Given the description of an element on the screen output the (x, y) to click on. 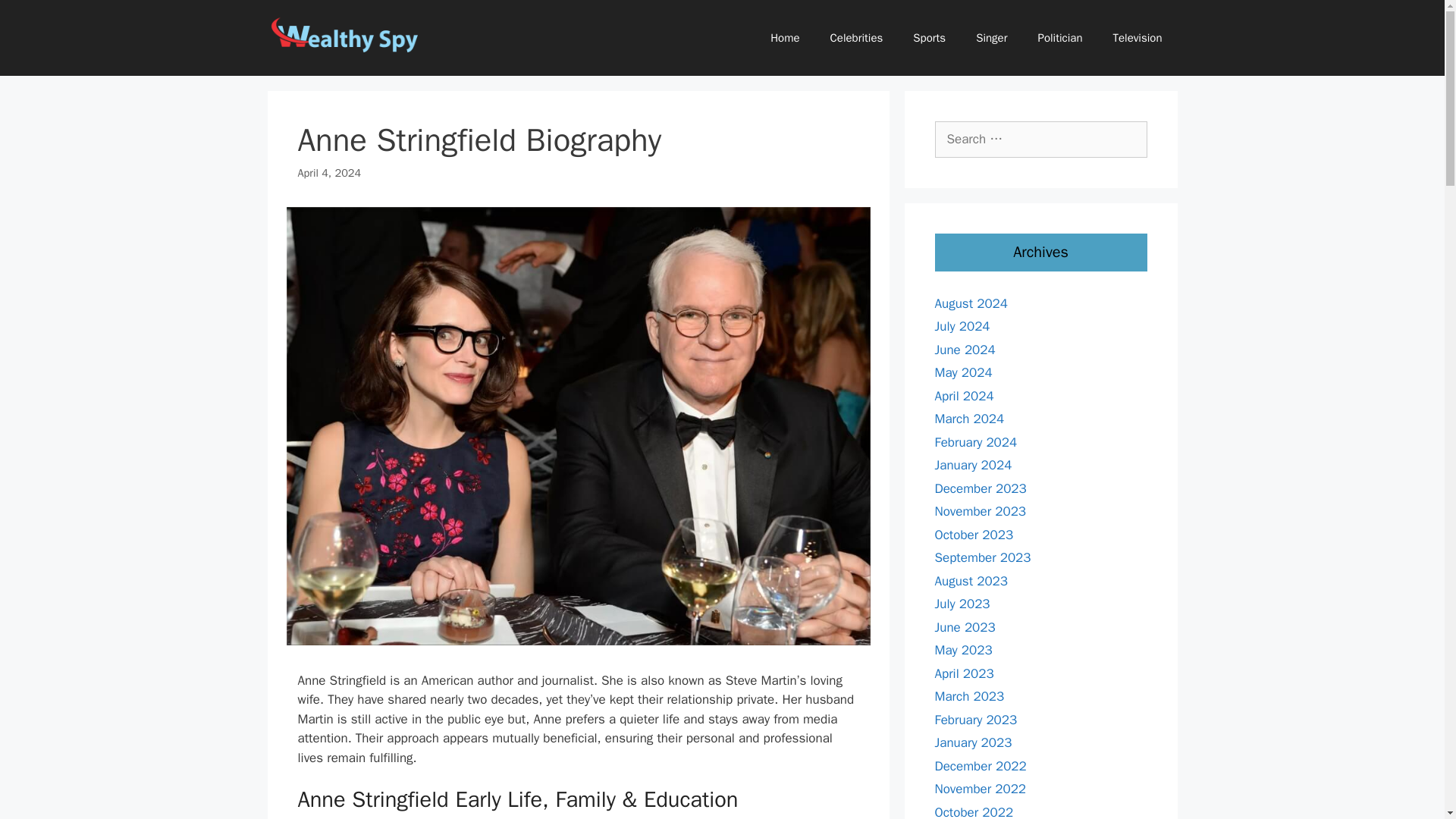
Television (1137, 37)
February 2024 (975, 441)
October 2023 (973, 534)
Singer (991, 37)
July 2024 (962, 326)
Celebrities (856, 37)
June 2024 (964, 349)
November 2023 (980, 511)
September 2023 (982, 557)
Search for: (1040, 139)
